Given the description of an element on the screen output the (x, y) to click on. 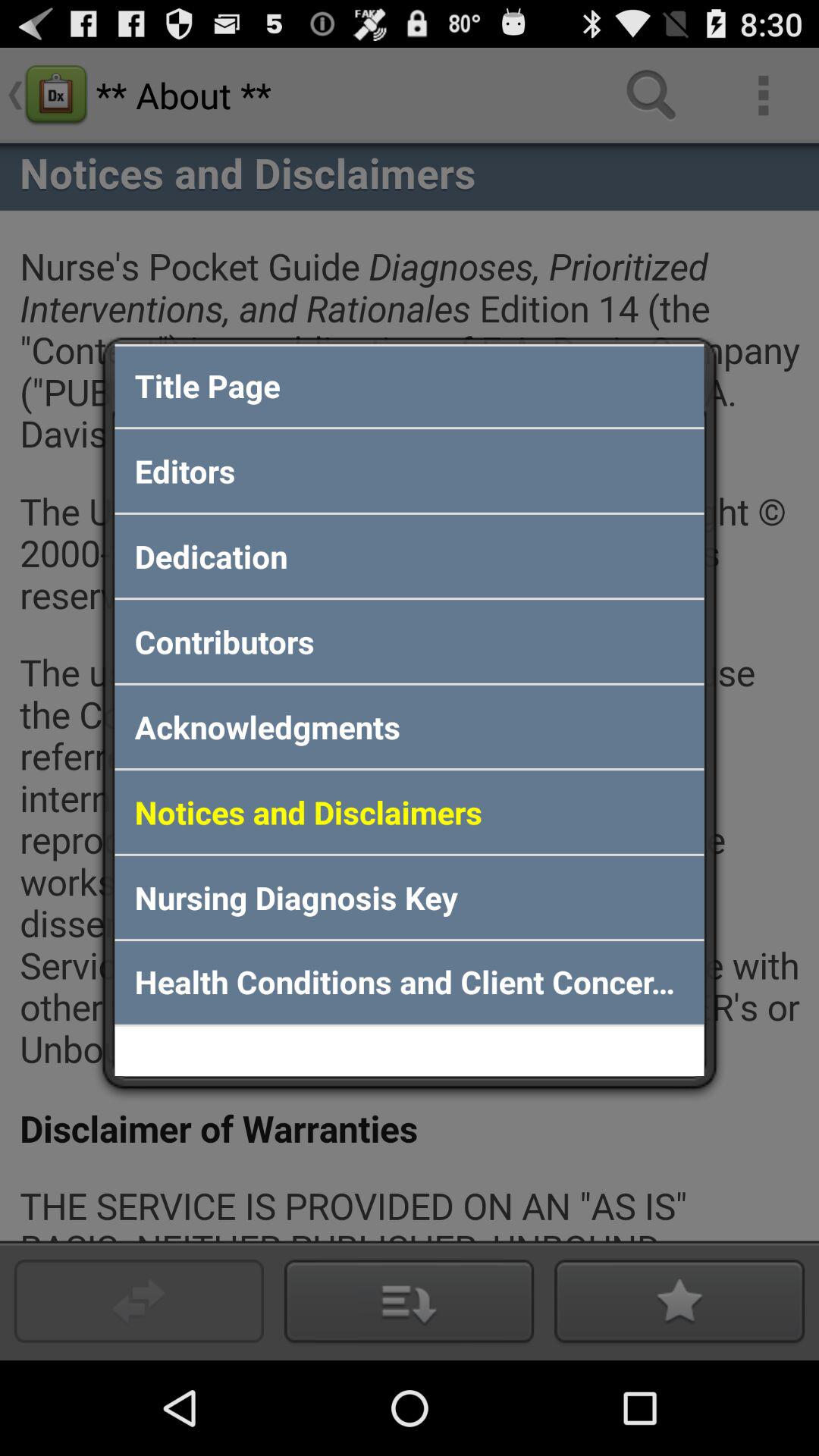
scroll to acknowledgments icon (409, 726)
